Given the description of an element on the screen output the (x, y) to click on. 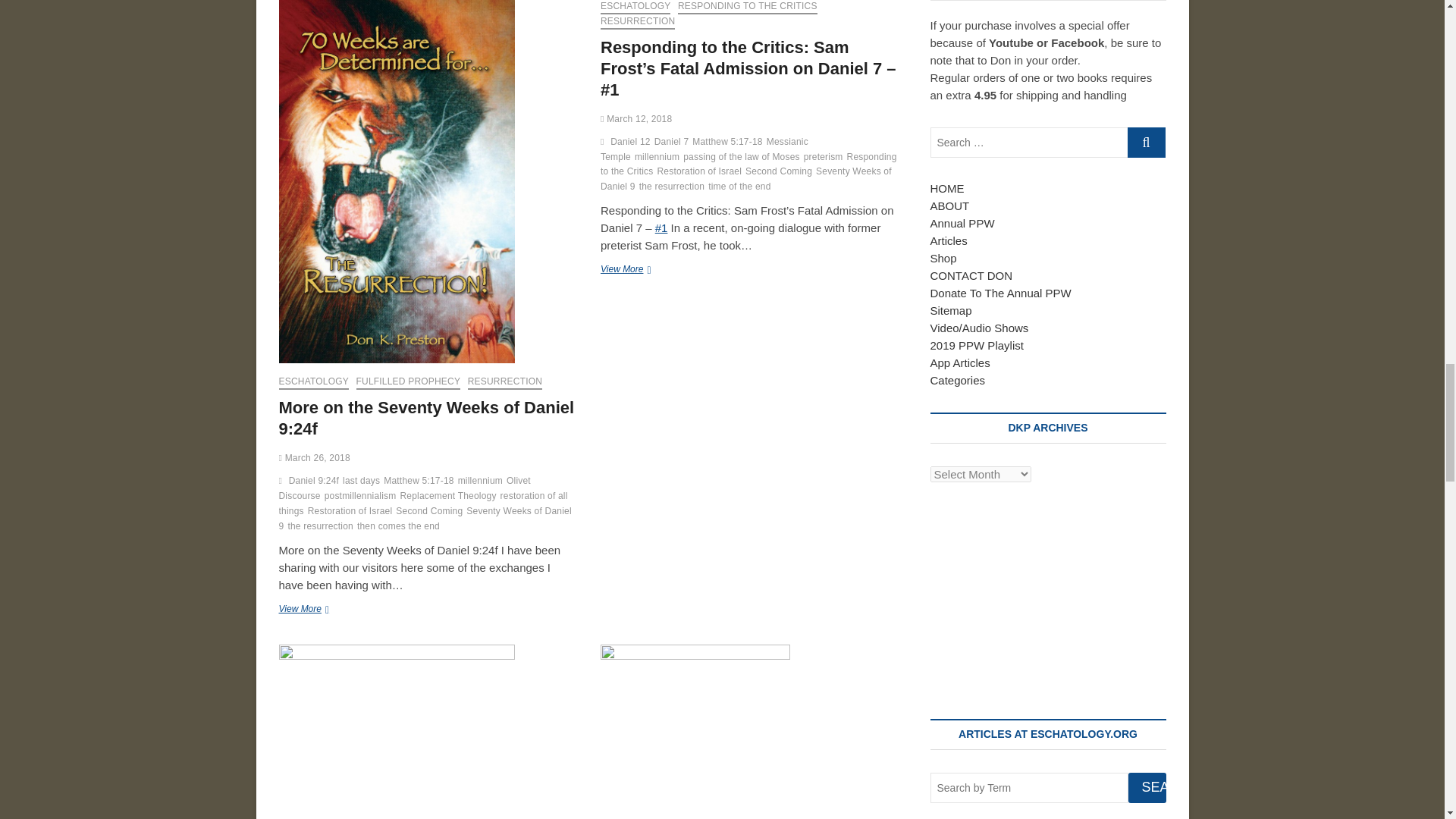
Search (1147, 788)
Search (1147, 788)
